Given the description of an element on the screen output the (x, y) to click on. 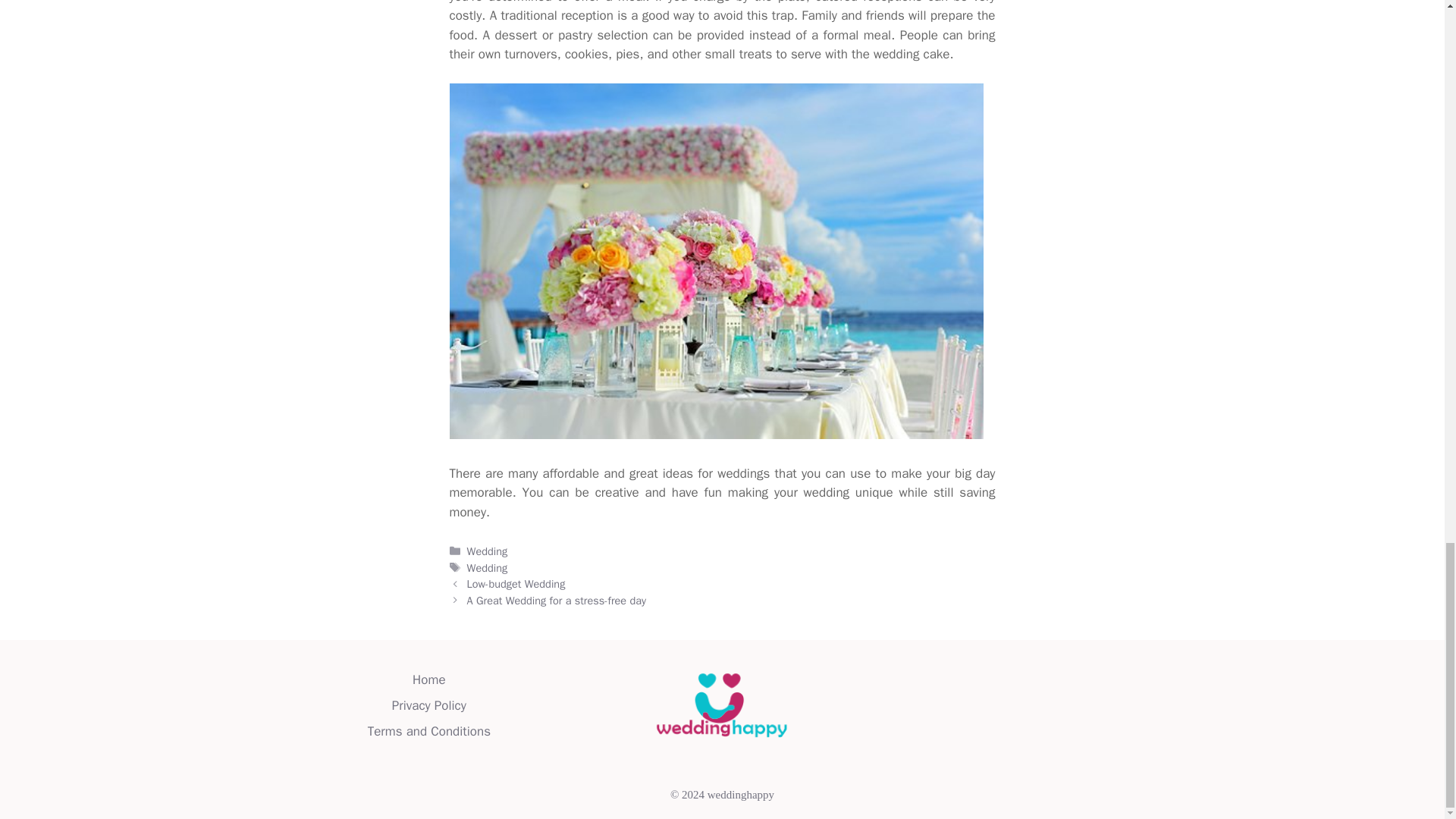
Wedding (487, 550)
Low-budget Wedding (516, 583)
Terms and Conditions (429, 731)
Home (428, 679)
A Great Wedding for a stress-free day (556, 600)
Privacy Policy (428, 705)
Wedding (487, 567)
